Given the description of an element on the screen output the (x, y) to click on. 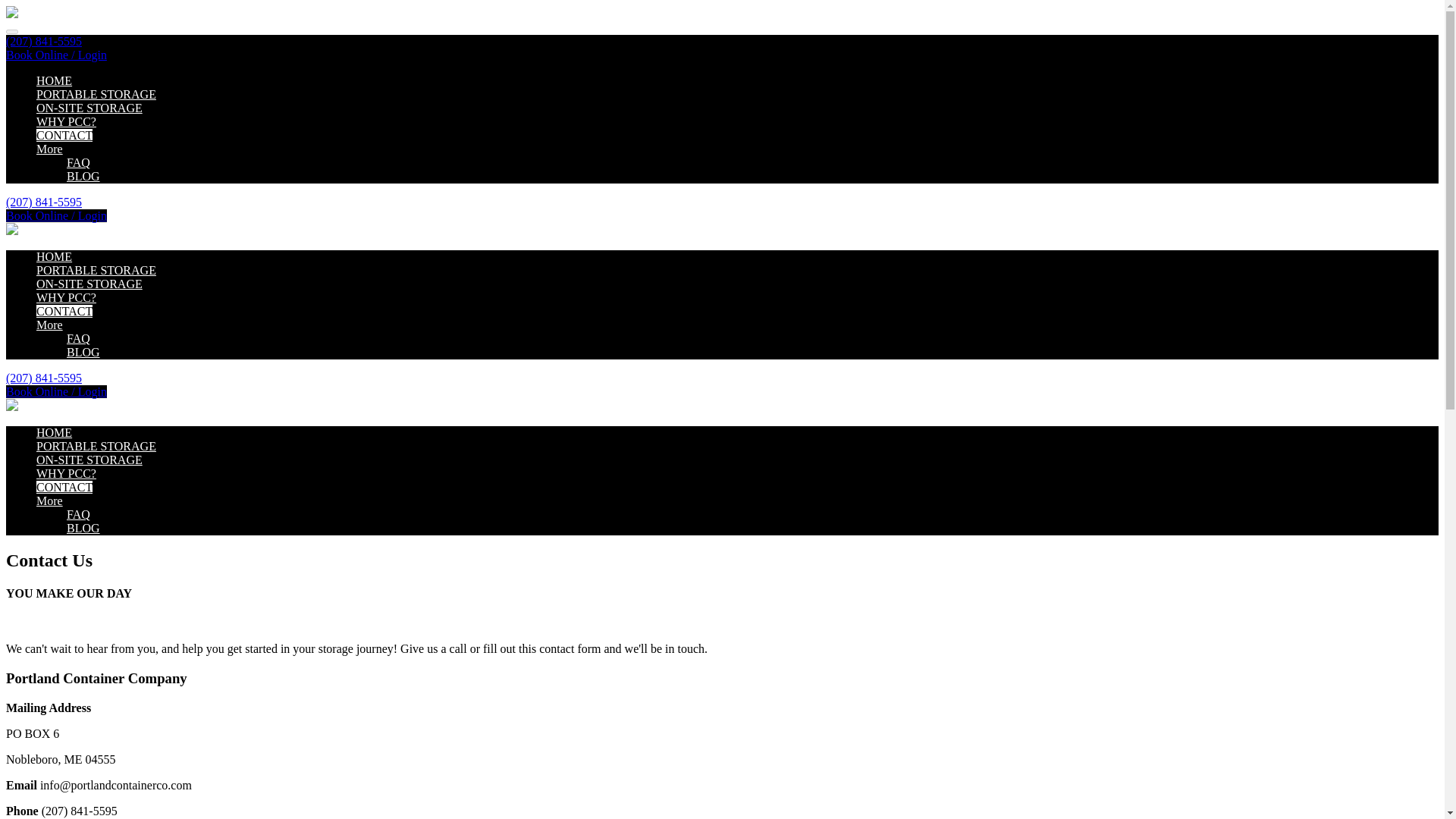
FAQ (78, 513)
WHY PCC? (66, 472)
HOME (53, 256)
BLOG (83, 527)
FAQ (78, 162)
ON-SITE STORAGE (89, 283)
CONTACT (64, 134)
PORTABLE STORAGE (95, 93)
BLOG (83, 351)
More (49, 500)
WHY PCC? (66, 121)
CONTACT (64, 310)
BLOG (83, 175)
CONTACT (64, 486)
PORTABLE STORAGE (95, 445)
